Given the description of an element on the screen output the (x, y) to click on. 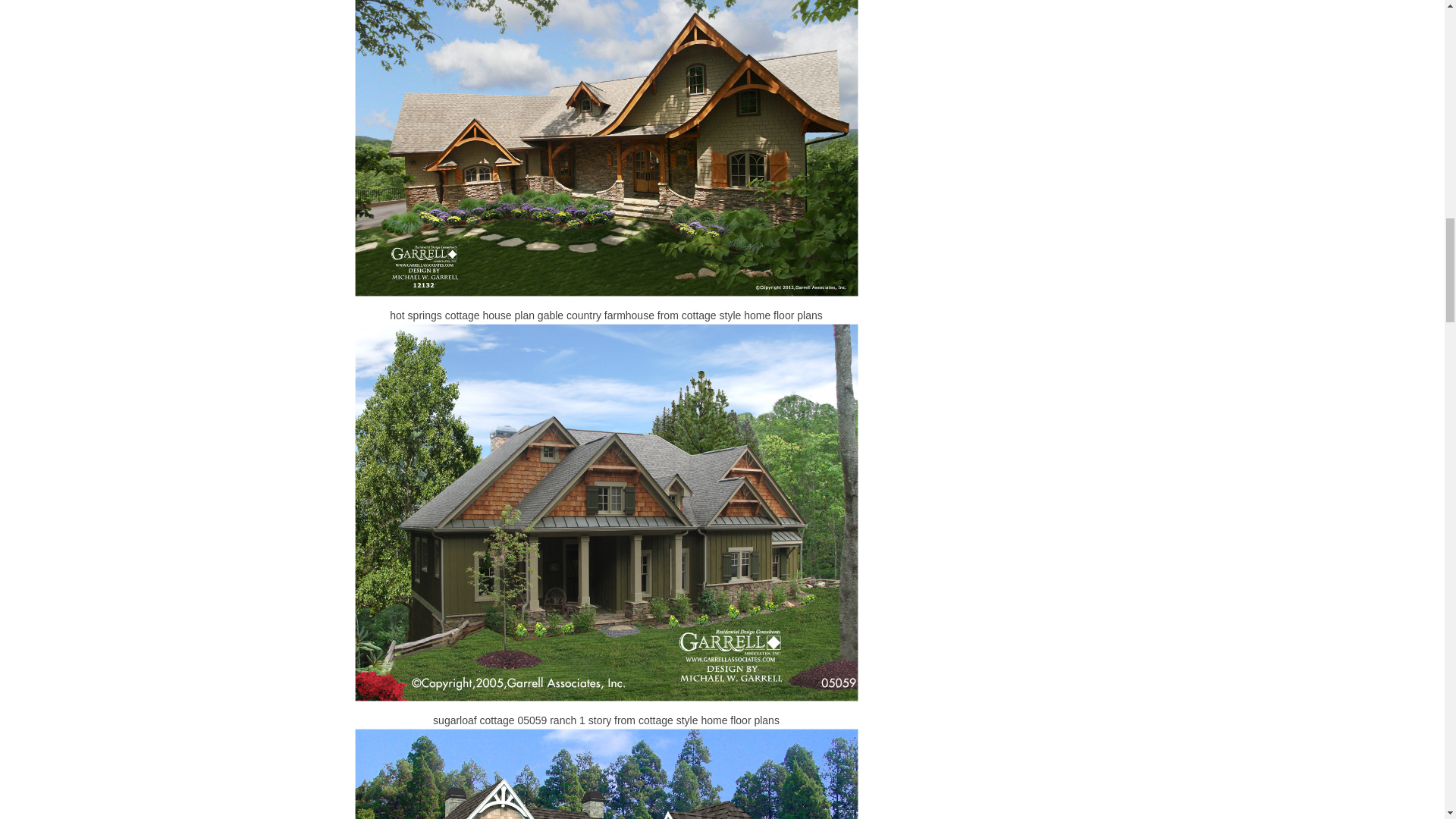
cottage style home plans smalltowndjs com (607, 773)
